Given the description of an element on the screen output the (x, y) to click on. 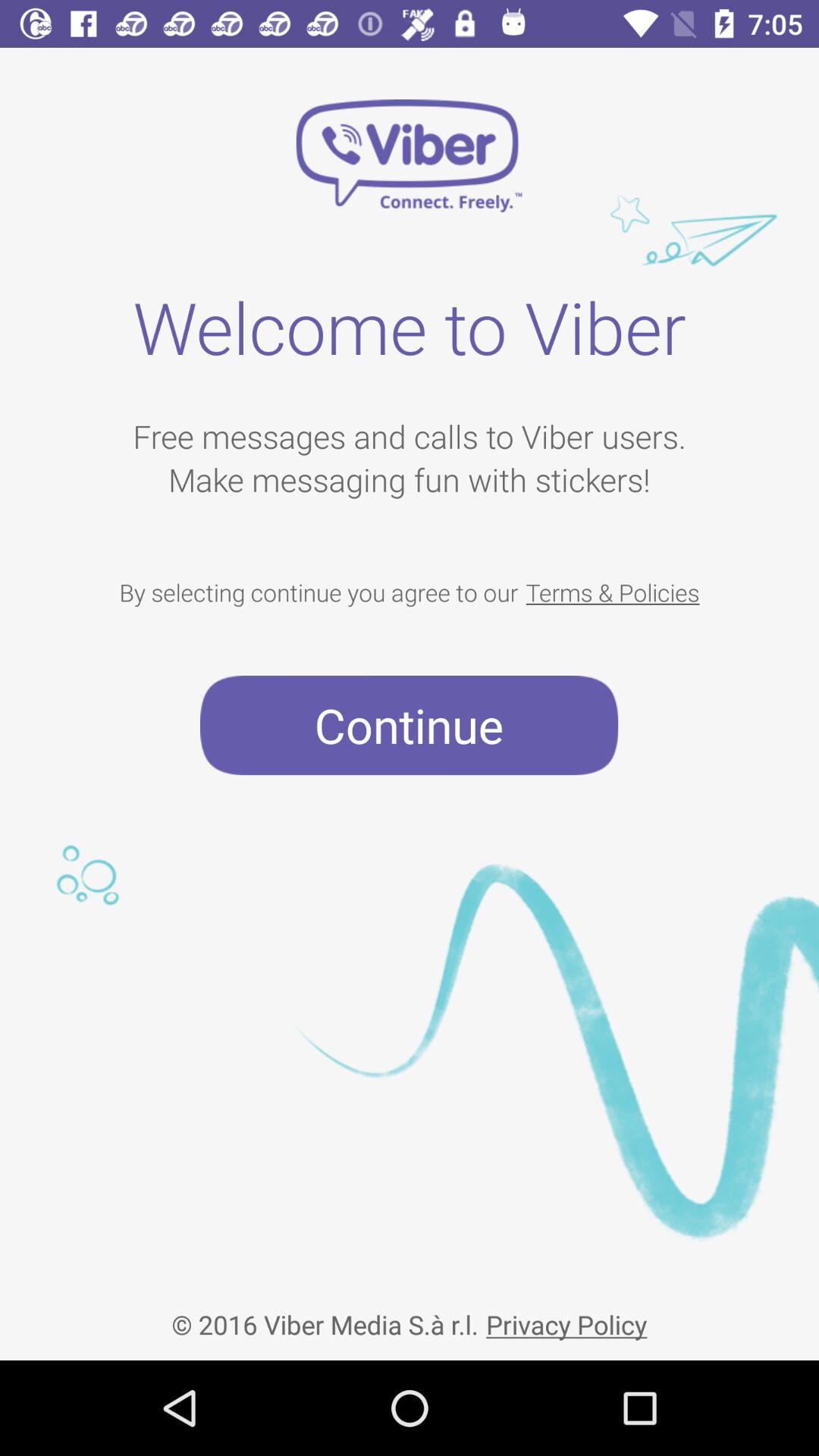
choose the privacy policy icon (566, 1312)
